Given the description of an element on the screen output the (x, y) to click on. 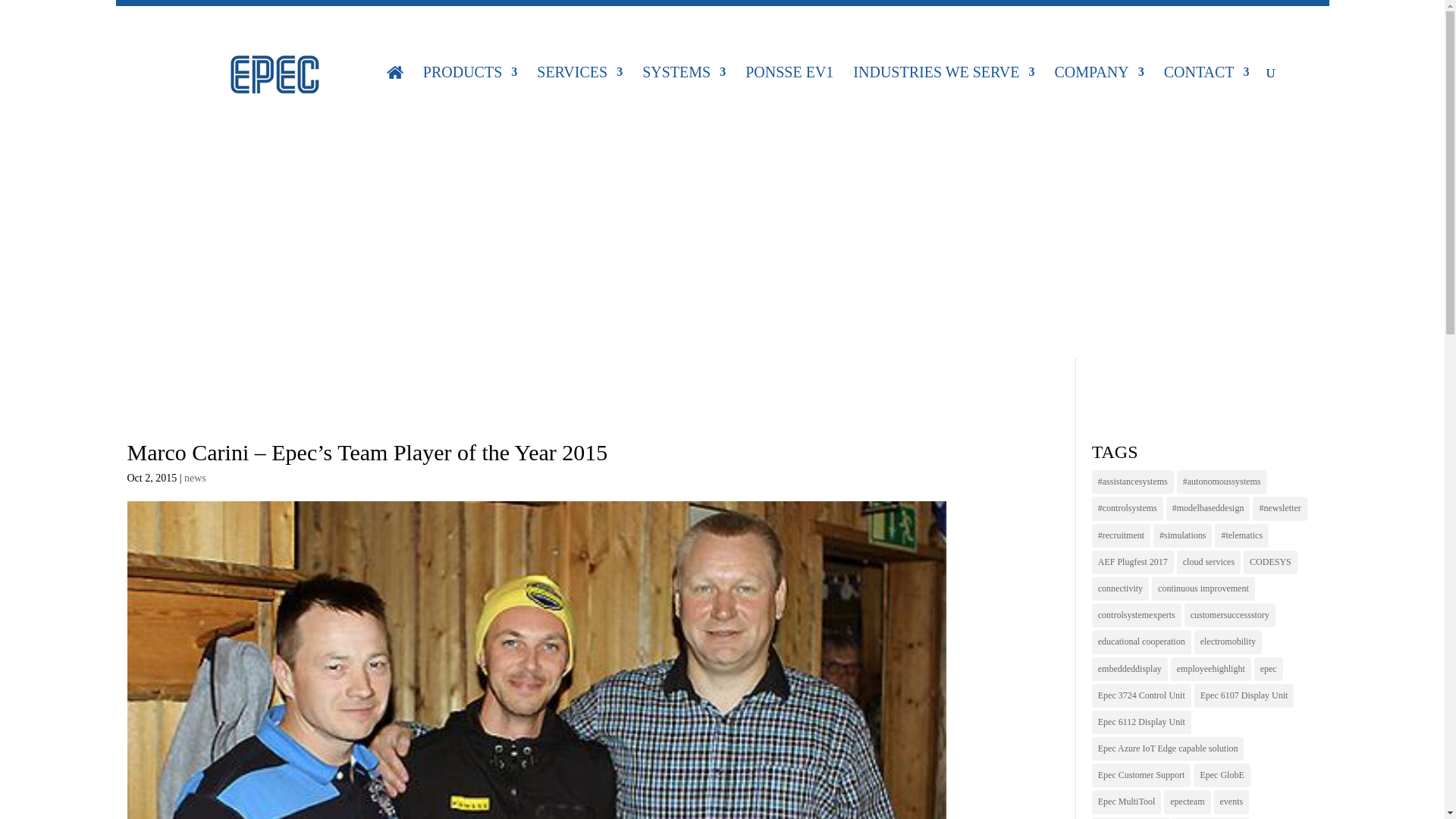
INDUSTRIES WE SERVE (943, 93)
SERVICES (580, 93)
FAQ (499, 22)
EPEC RECRUITMENTS (1246, 22)
COMPANY (1098, 93)
ARTICLES (959, 22)
EXTRANET (393, 22)
WEBINARS (1083, 22)
PRODUCTS (469, 93)
Go to the news category archives. (589, 314)
